Given the description of an element on the screen output the (x, y) to click on. 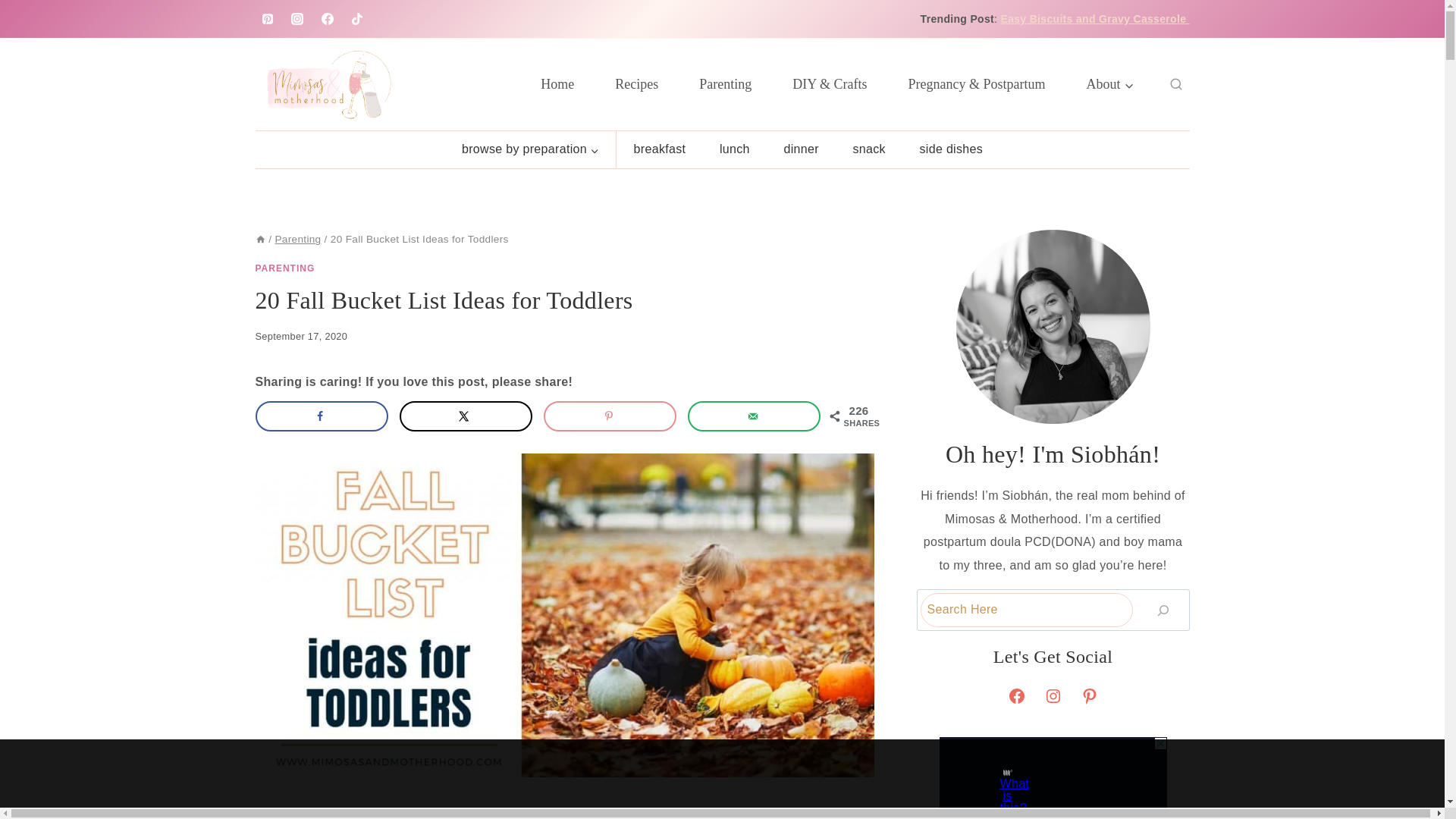
Parenting (297, 238)
Share on Facebook (320, 416)
Home (556, 83)
lunch (735, 149)
snack (868, 149)
Save to Pinterest (610, 416)
Parenting (724, 83)
PARENTING (284, 267)
About (1109, 83)
browse by preparation (531, 149)
dinner (801, 149)
Share on X (465, 416)
Recipes (636, 83)
Easy Biscuits and Gravy Casserole  (1094, 19)
Send over email (754, 416)
